Given the description of an element on the screen output the (x, y) to click on. 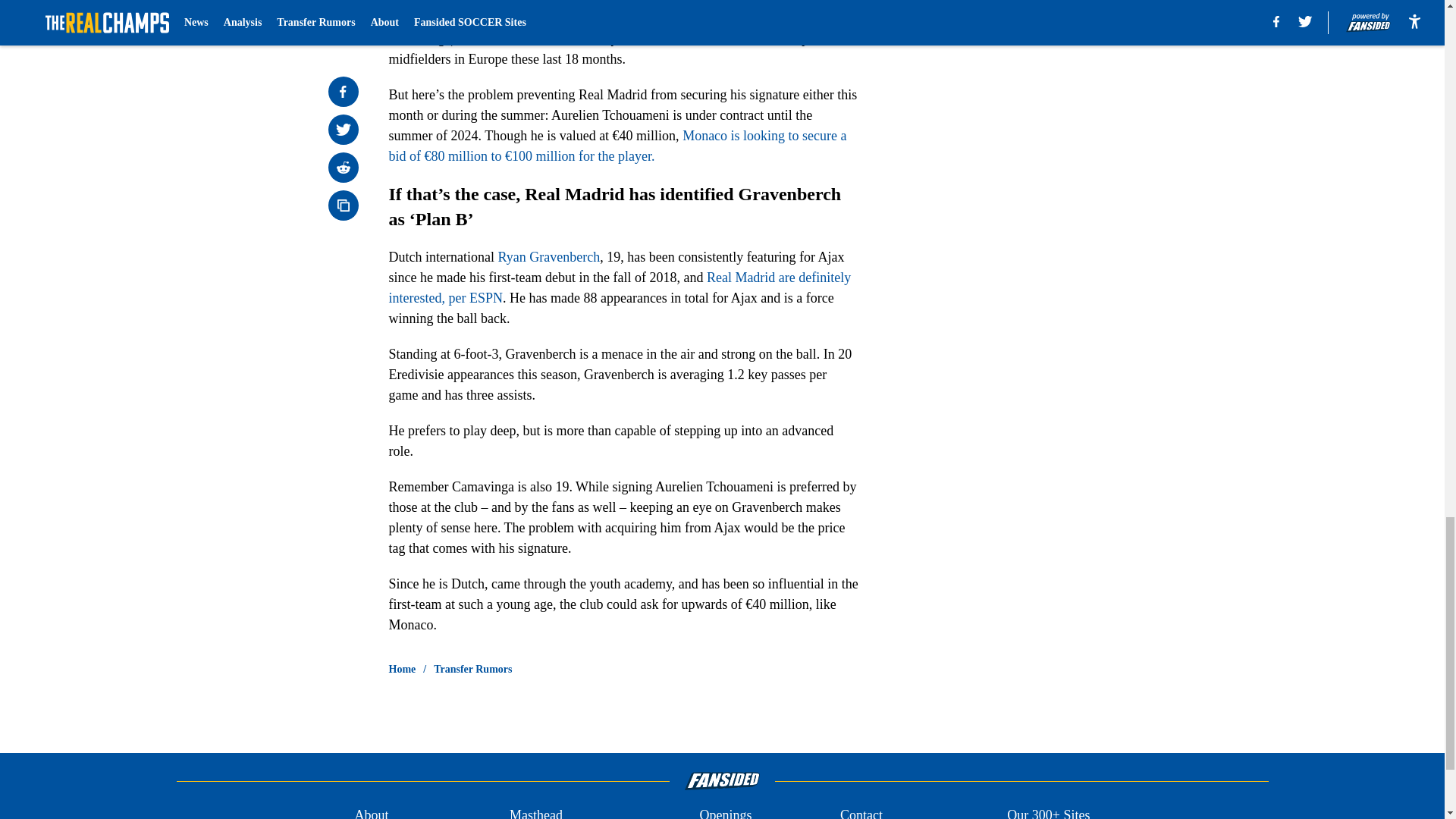
About (370, 812)
Transfer Rumors (472, 669)
Masthead (535, 812)
Real Madrid are definitely interested, per ESPN (619, 287)
Contact (861, 812)
Ryan Gravenberch (548, 256)
Openings (724, 812)
Home (401, 669)
